Given the description of an element on the screen output the (x, y) to click on. 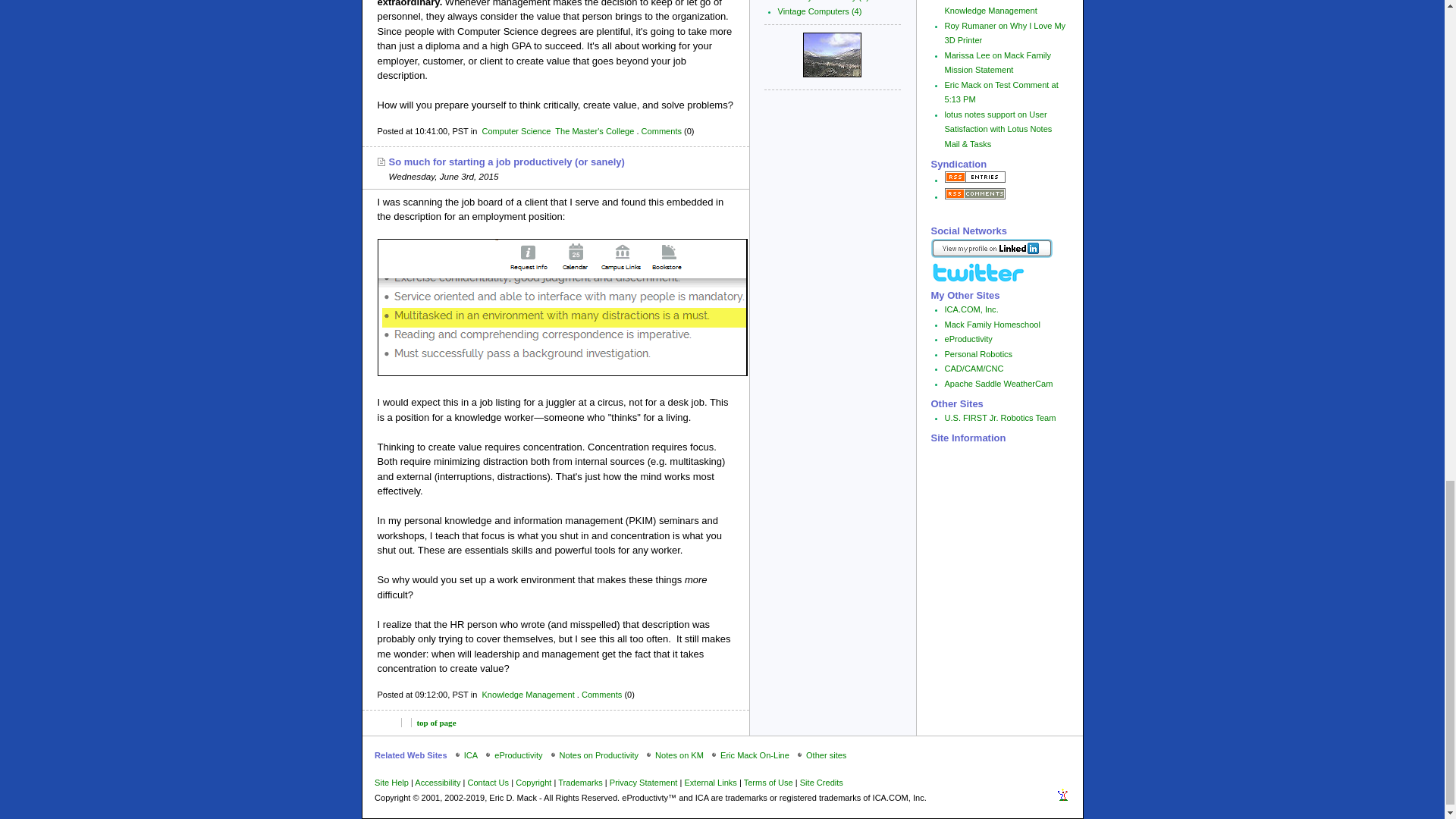
Comments (661, 130)
Comments (600, 694)
Category: The Master's College (593, 130)
Computer Science (515, 130)
Knowledge Management (527, 694)
Category: Computer Science (515, 130)
top of page (435, 722)
The Master's College (593, 130)
